Given the description of an element on the screen output the (x, y) to click on. 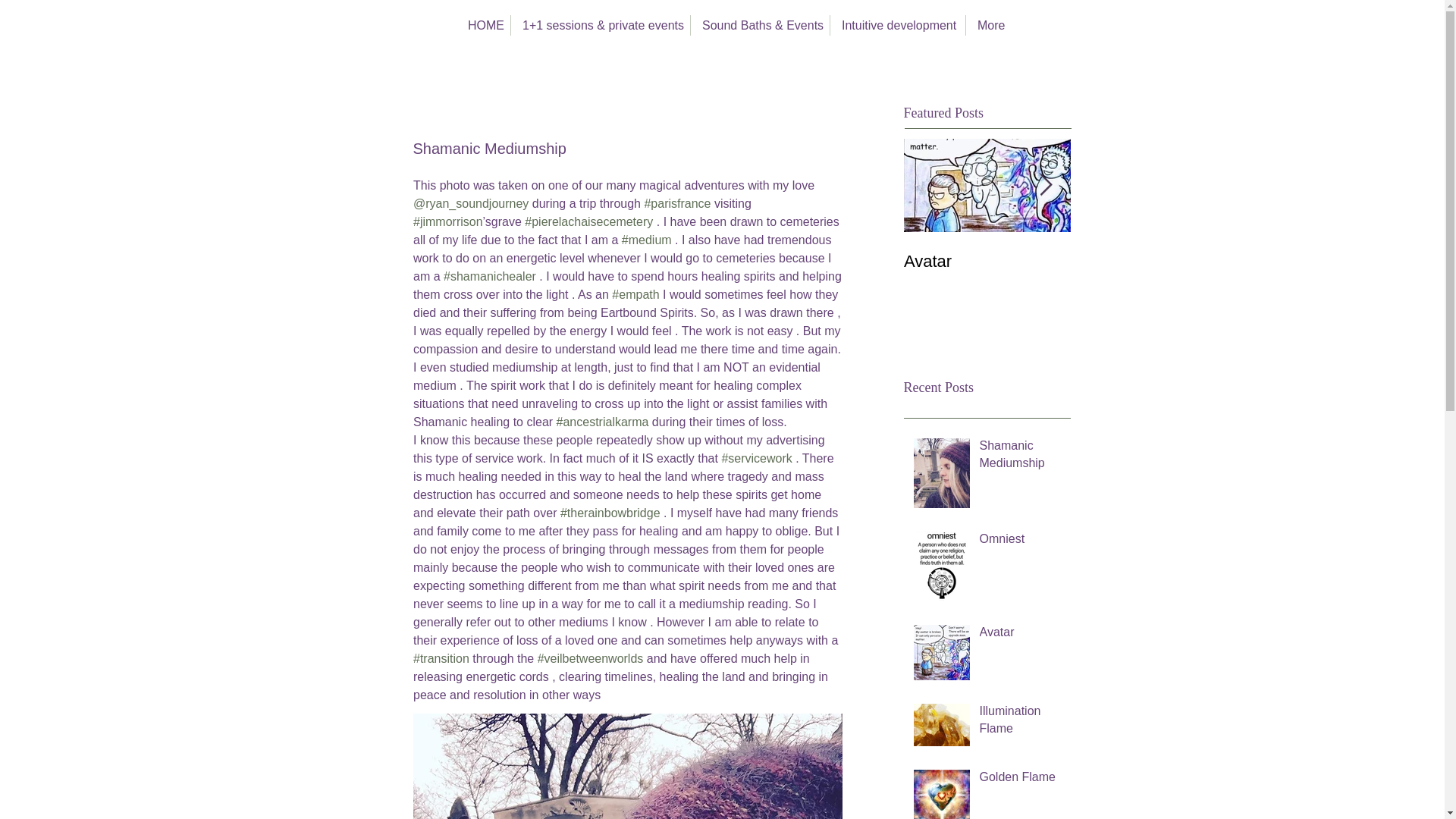
Illumination Flame (1153, 261)
Intuitive development (897, 25)
Avatar (987, 261)
HOME (484, 25)
Shamanic Mediumship (1020, 457)
Omniest (1020, 541)
Avatar (1020, 635)
Golden Flame (1020, 780)
Illumination Flame (1020, 722)
